Given the description of an element on the screen output the (x, y) to click on. 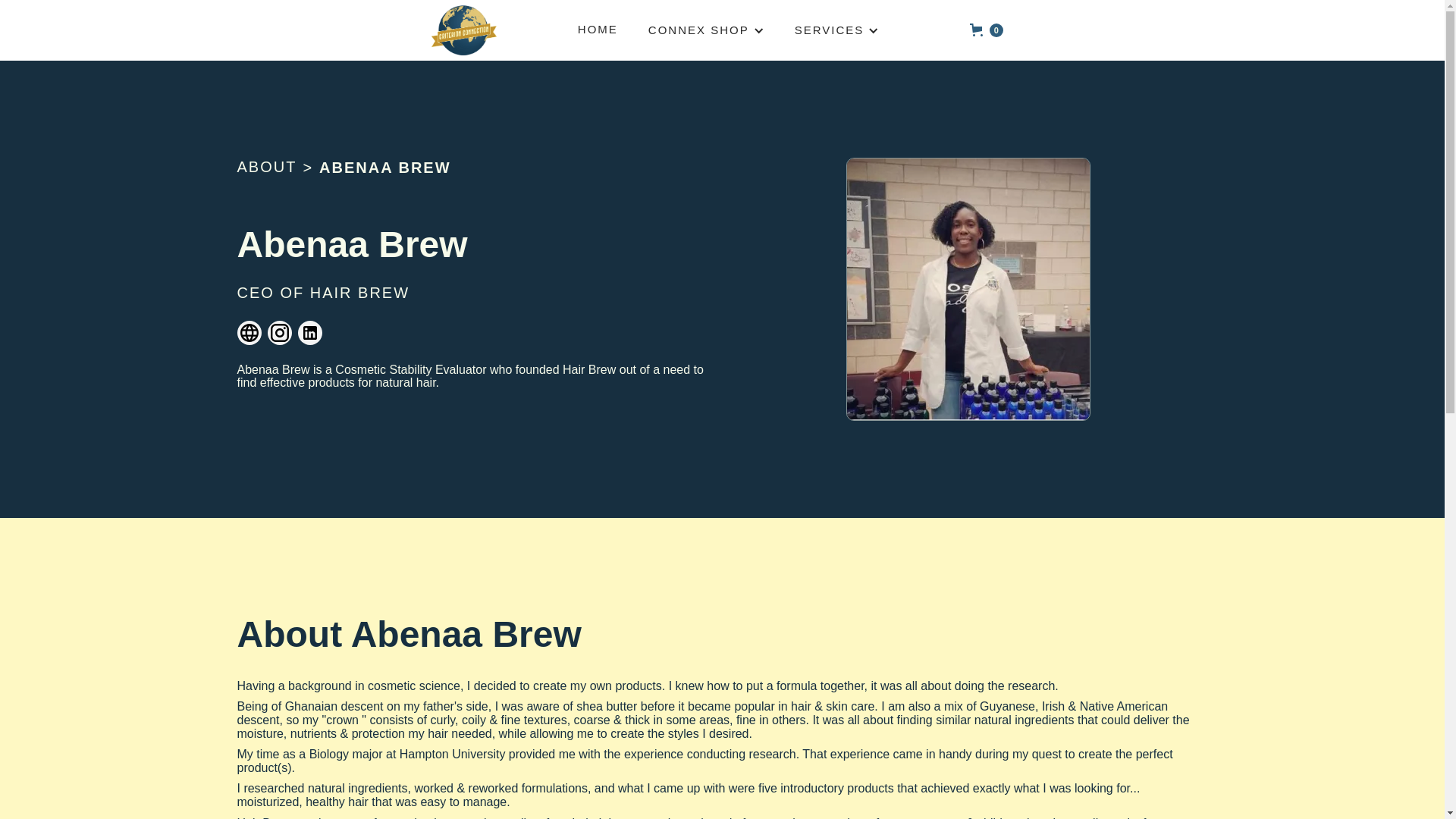
0 (986, 30)
HOME (597, 29)
ABOUT (266, 167)
